Given the description of an element on the screen output the (x, y) to click on. 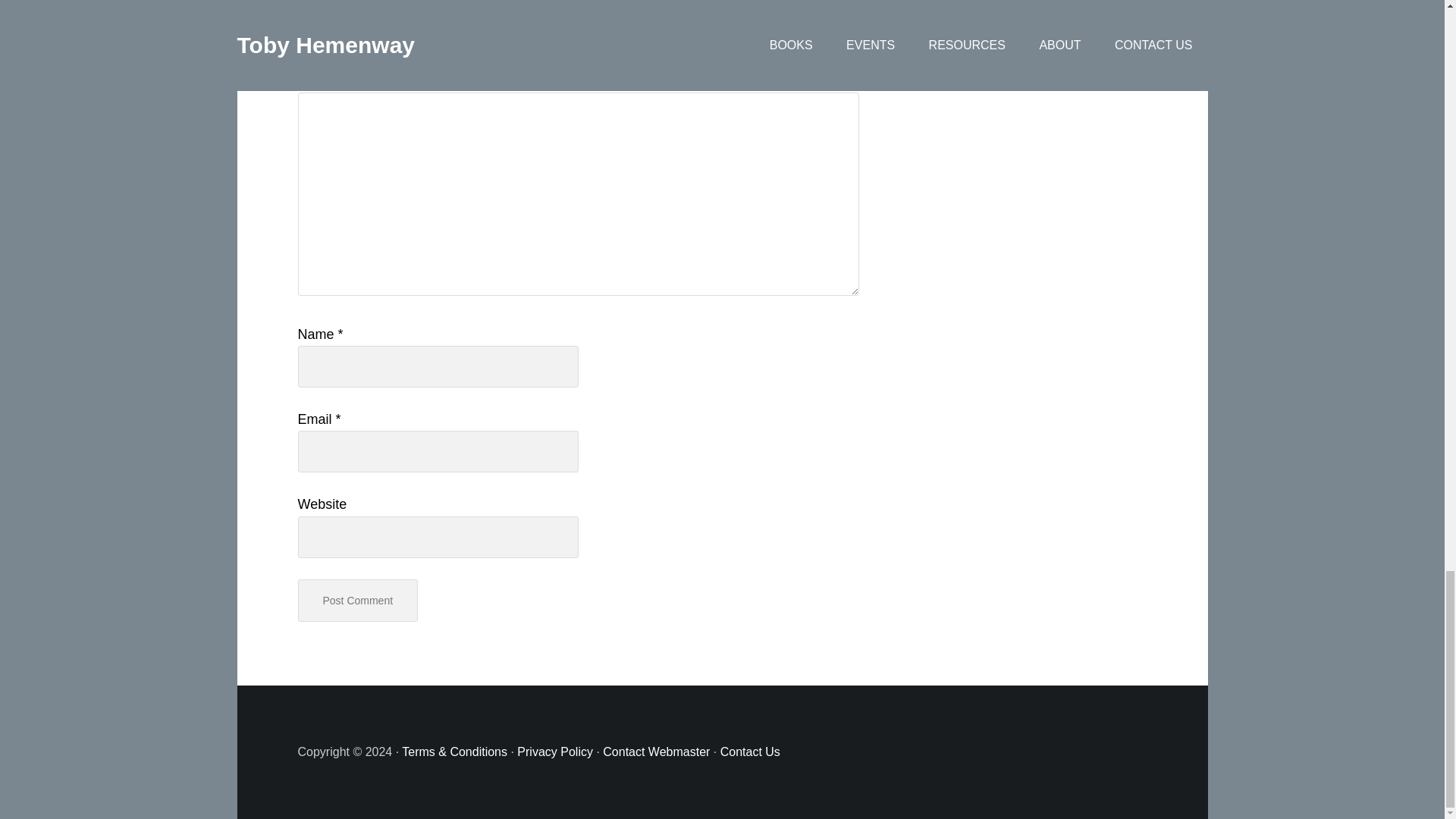
Privacy Policy (554, 751)
Post Comment (357, 600)
Contact Webmaster (656, 751)
Post Comment (357, 600)
Contact Us (750, 751)
